Given the description of an element on the screen output the (x, y) to click on. 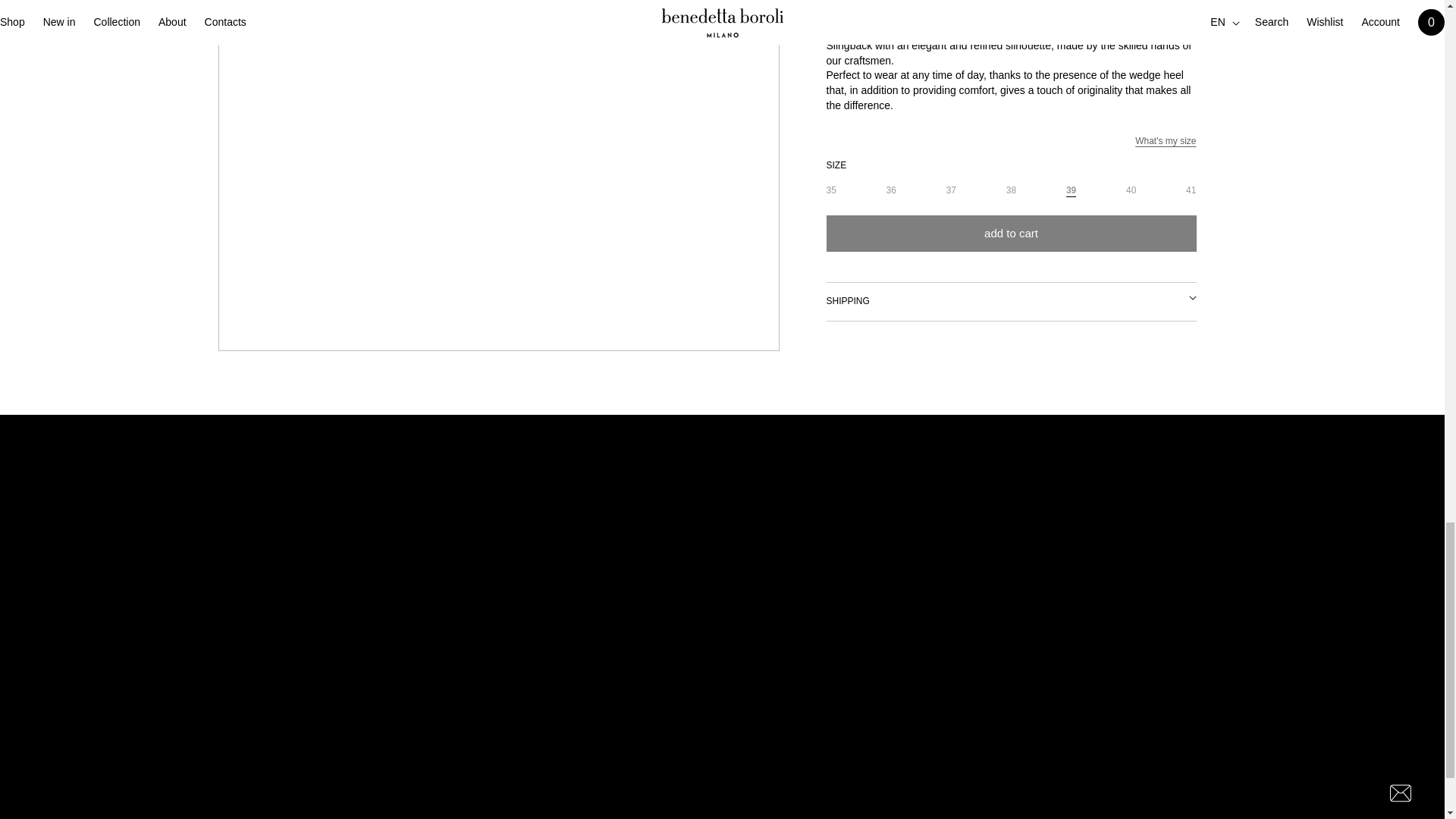
Email (722, 787)
